Given the description of an element on the screen output the (x, y) to click on. 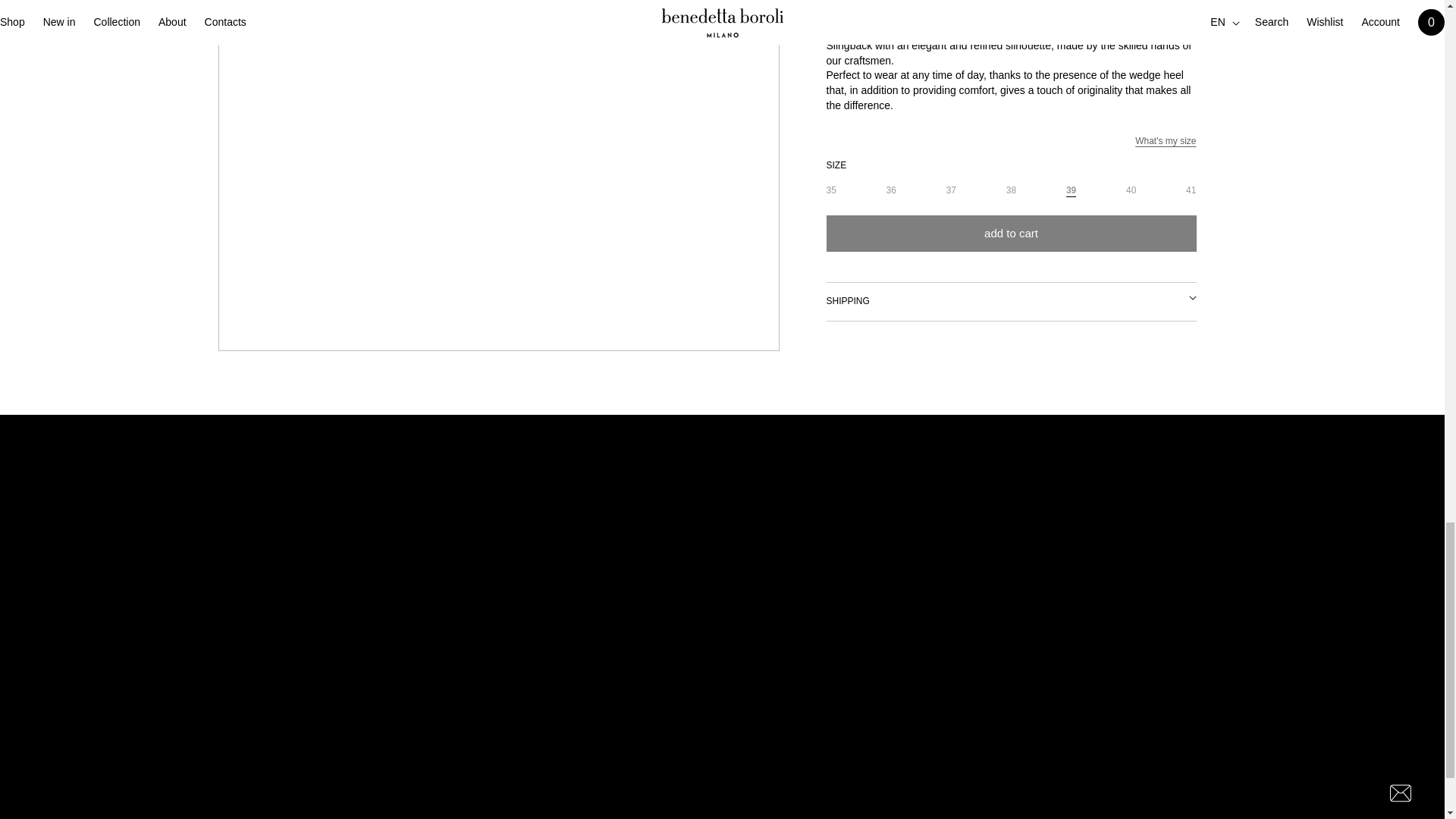
Email (722, 787)
